Given the description of an element on the screen output the (x, y) to click on. 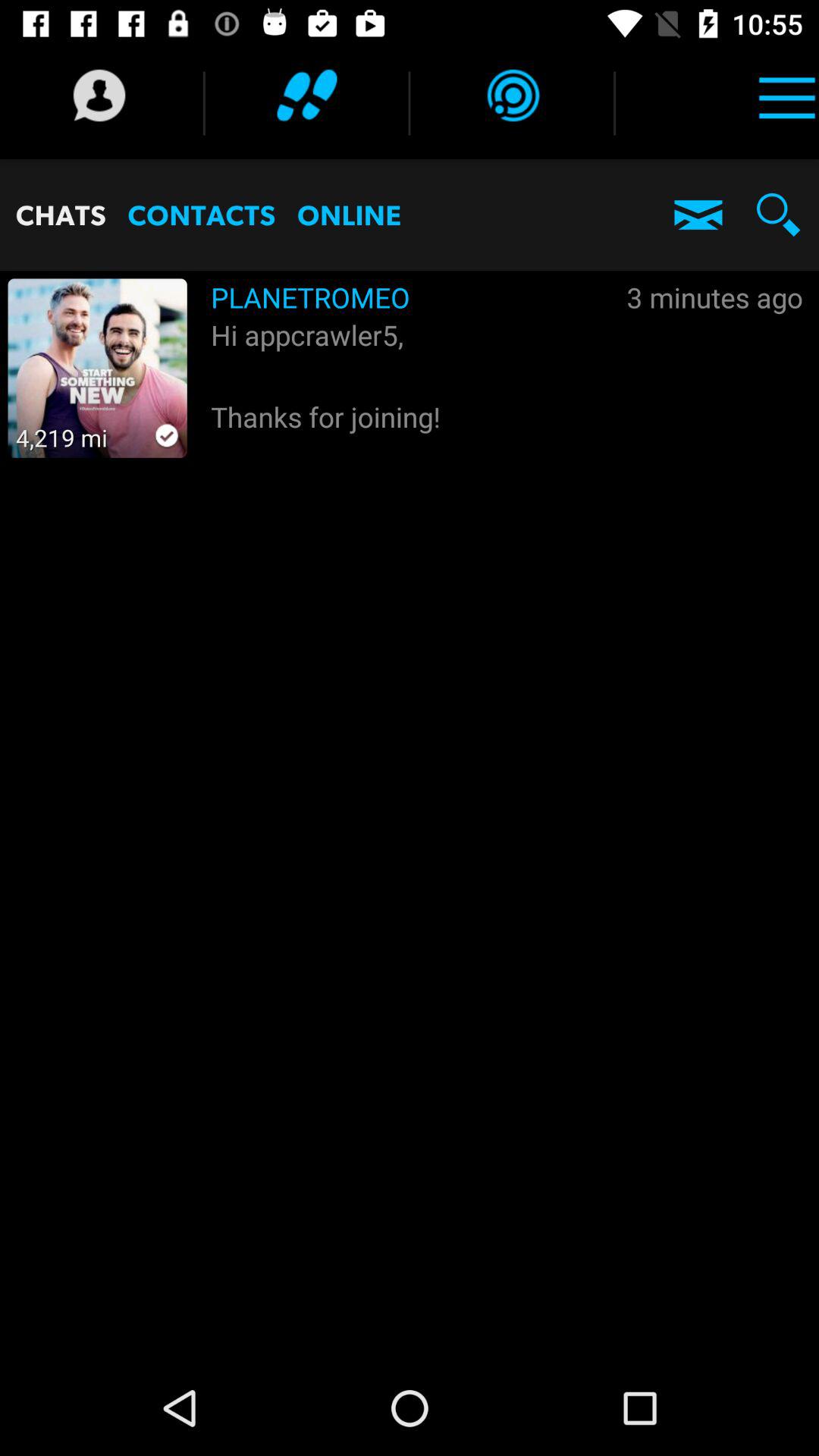
turn off item above the planetromeo icon (511, 95)
